Given the description of an element on the screen output the (x, y) to click on. 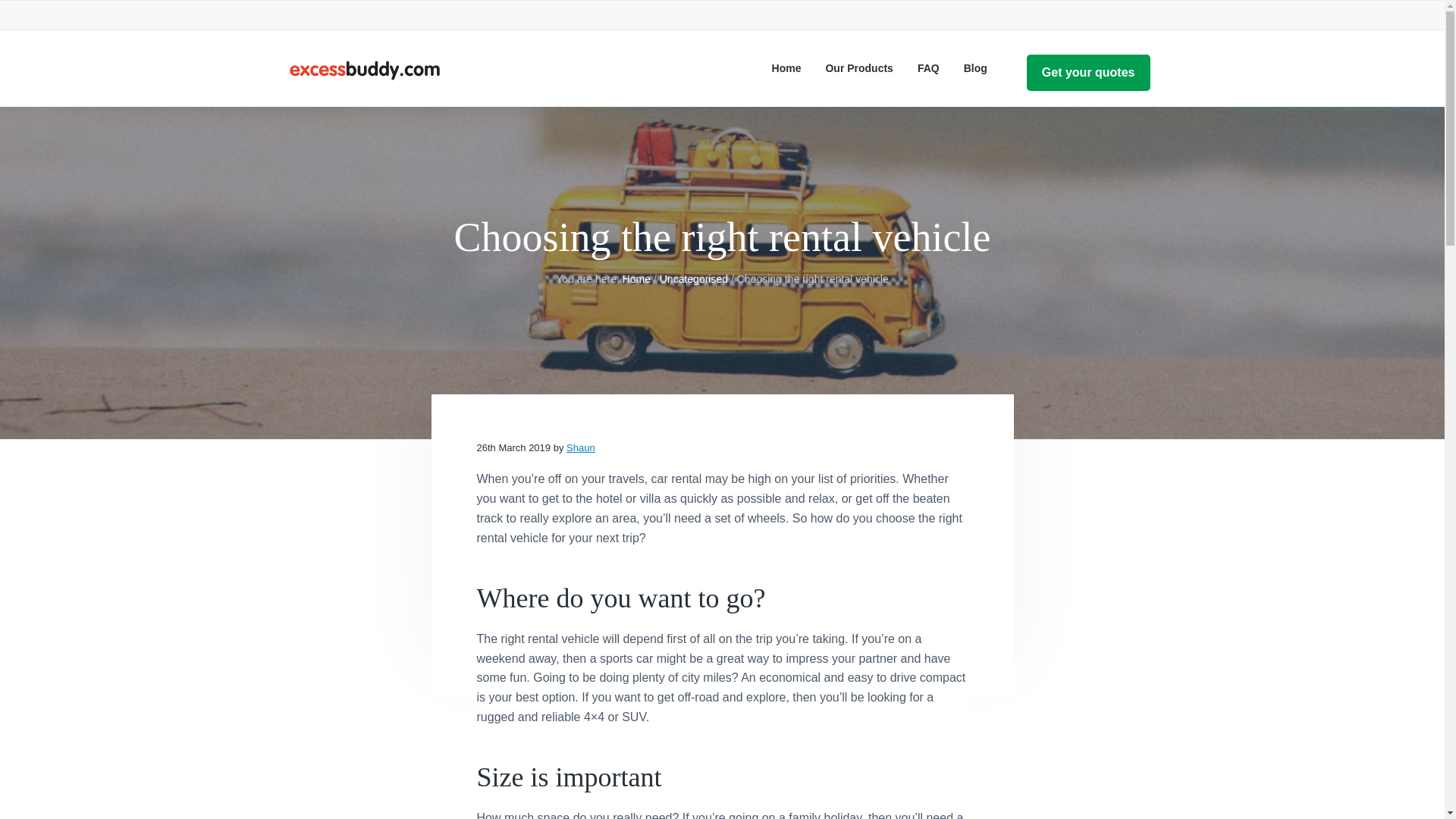
Home (636, 278)
FAQ (928, 67)
Uncategorised (693, 278)
Blog (975, 67)
Our Products (858, 67)
Get your quotes (1088, 72)
Shaun (580, 447)
Home (786, 67)
